Given the description of an element on the screen output the (x, y) to click on. 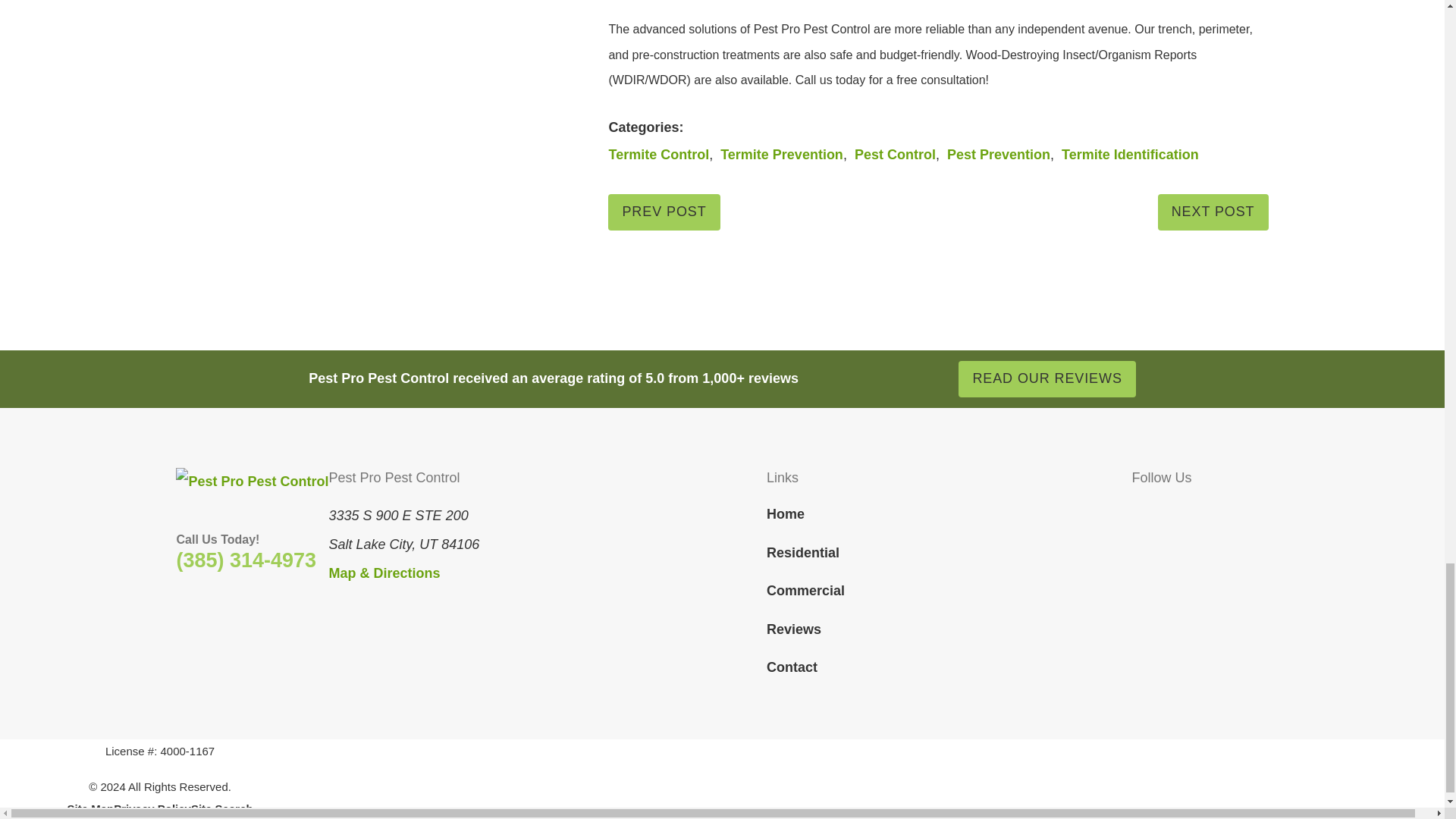
Home (252, 481)
Star Rating (865, 379)
Angie's List (1258, 511)
Yelp (1169, 511)
Instagram (1200, 511)
Google Business Profile (1229, 511)
Facebook (1141, 511)
